Given the description of an element on the screen output the (x, y) to click on. 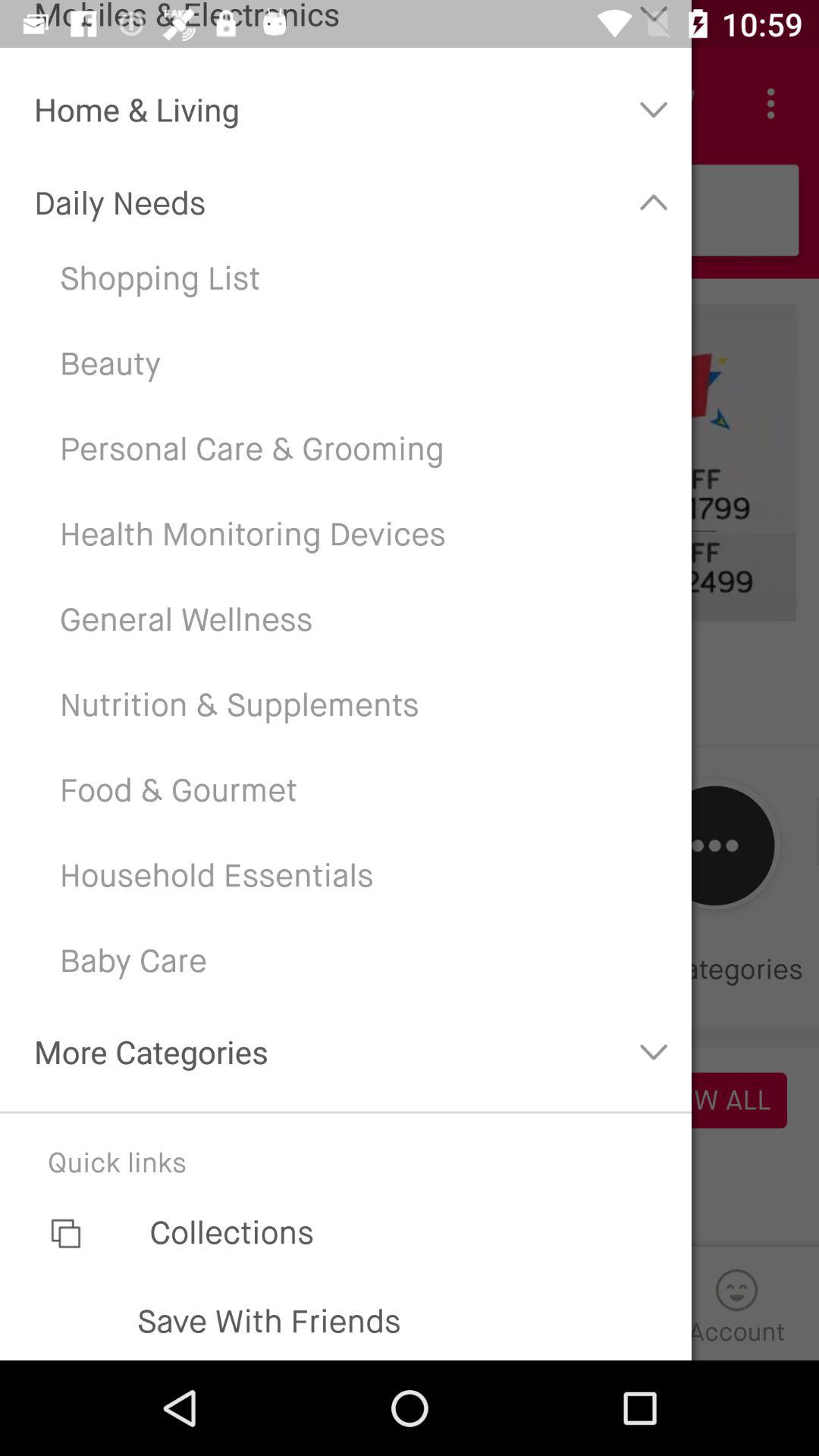
click on the button which is next to the daily needs (653, 203)
click on the button which is next to the household essentials (714, 845)
click on the button which is next to the household essentials (714, 845)
